Given the description of an element on the screen output the (x, y) to click on. 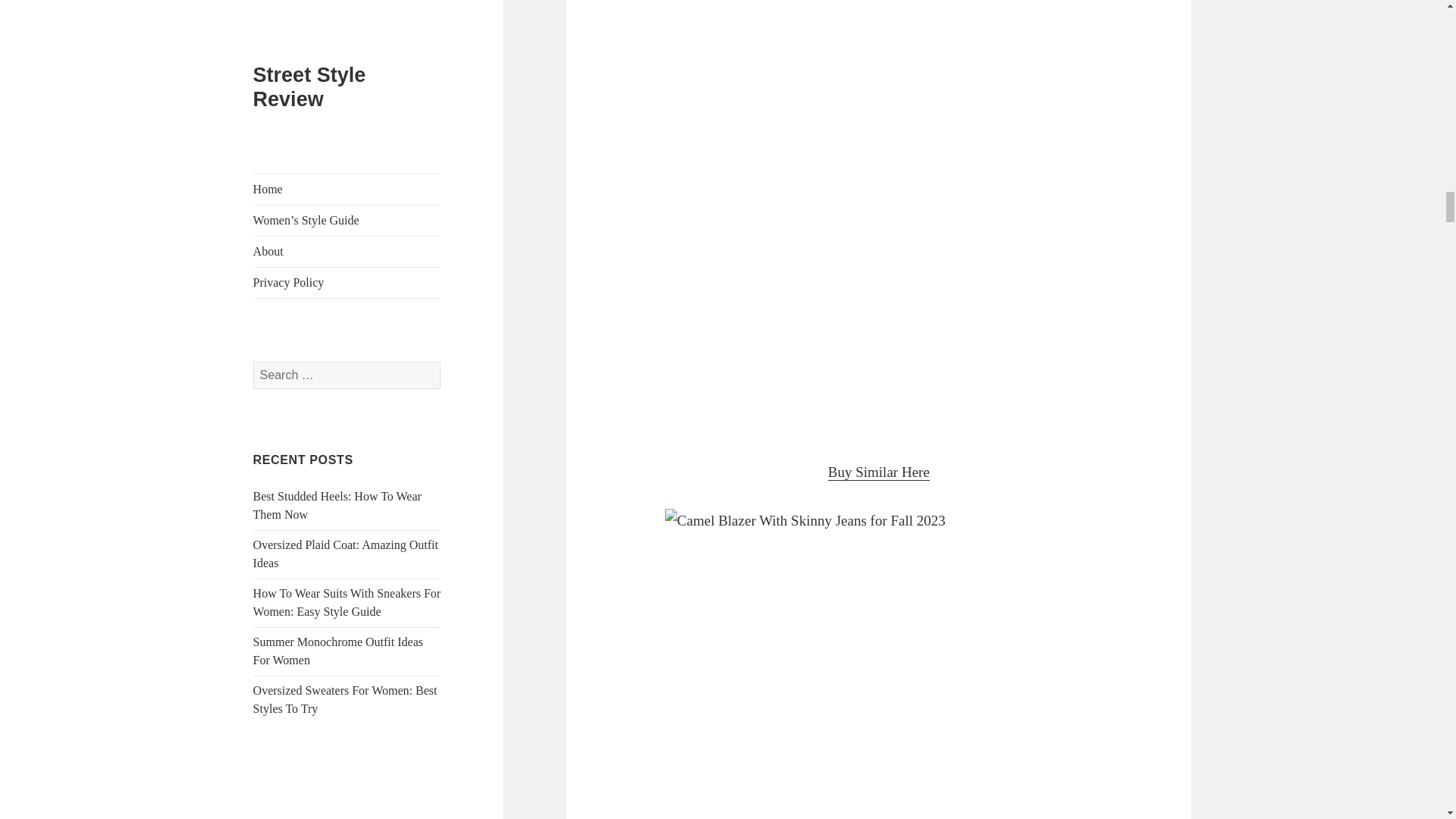
Camel Blazer With Skinny Jeans for Fall 2023 (879, 663)
Buy Similar Here (879, 472)
